Given the description of an element on the screen output the (x, y) to click on. 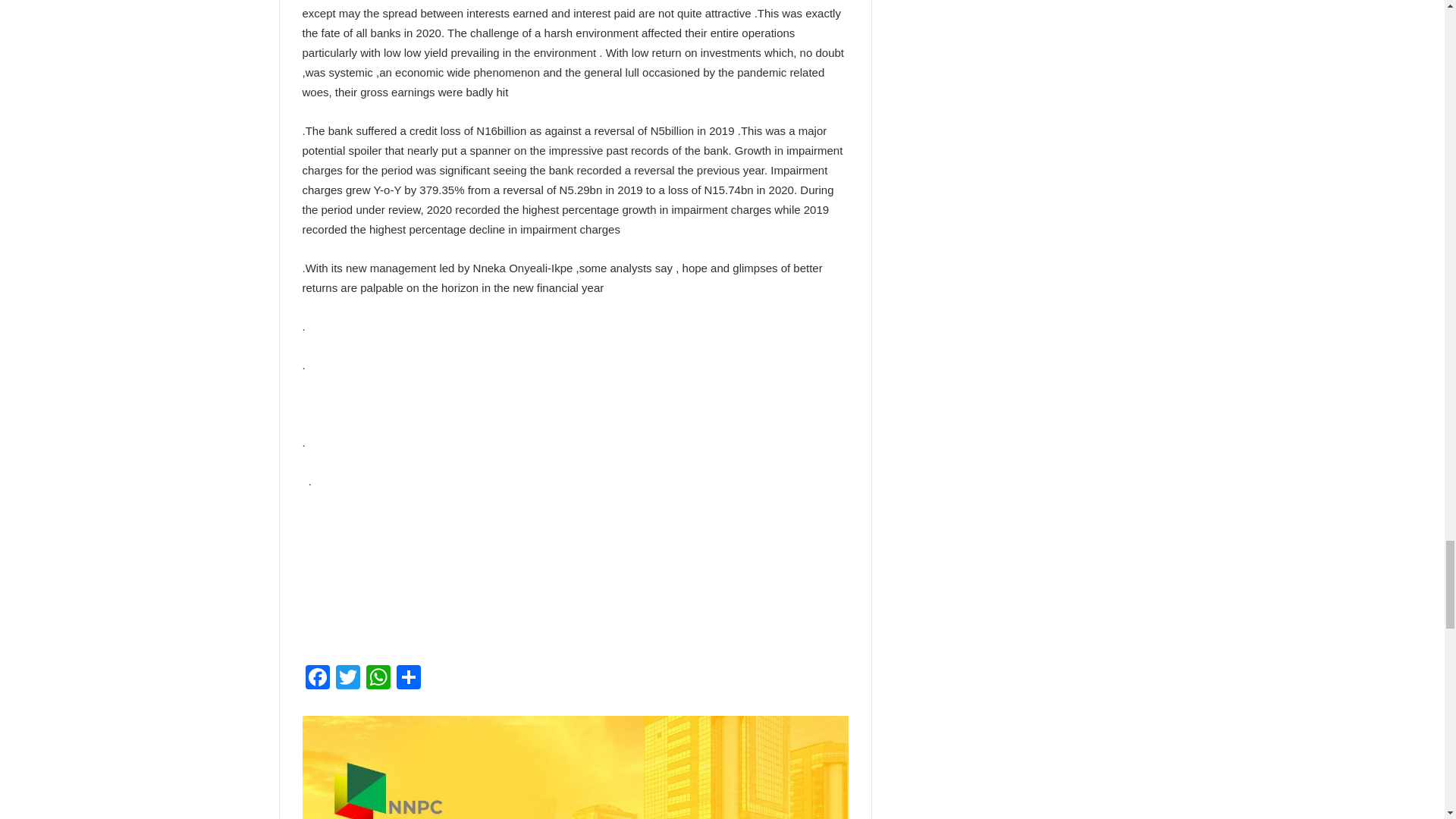
Twitter (346, 678)
WhatsApp (377, 678)
WhatsApp (377, 678)
Facebook (316, 678)
Twitter (346, 678)
Facebook (316, 678)
